Given the description of an element on the screen output the (x, y) to click on. 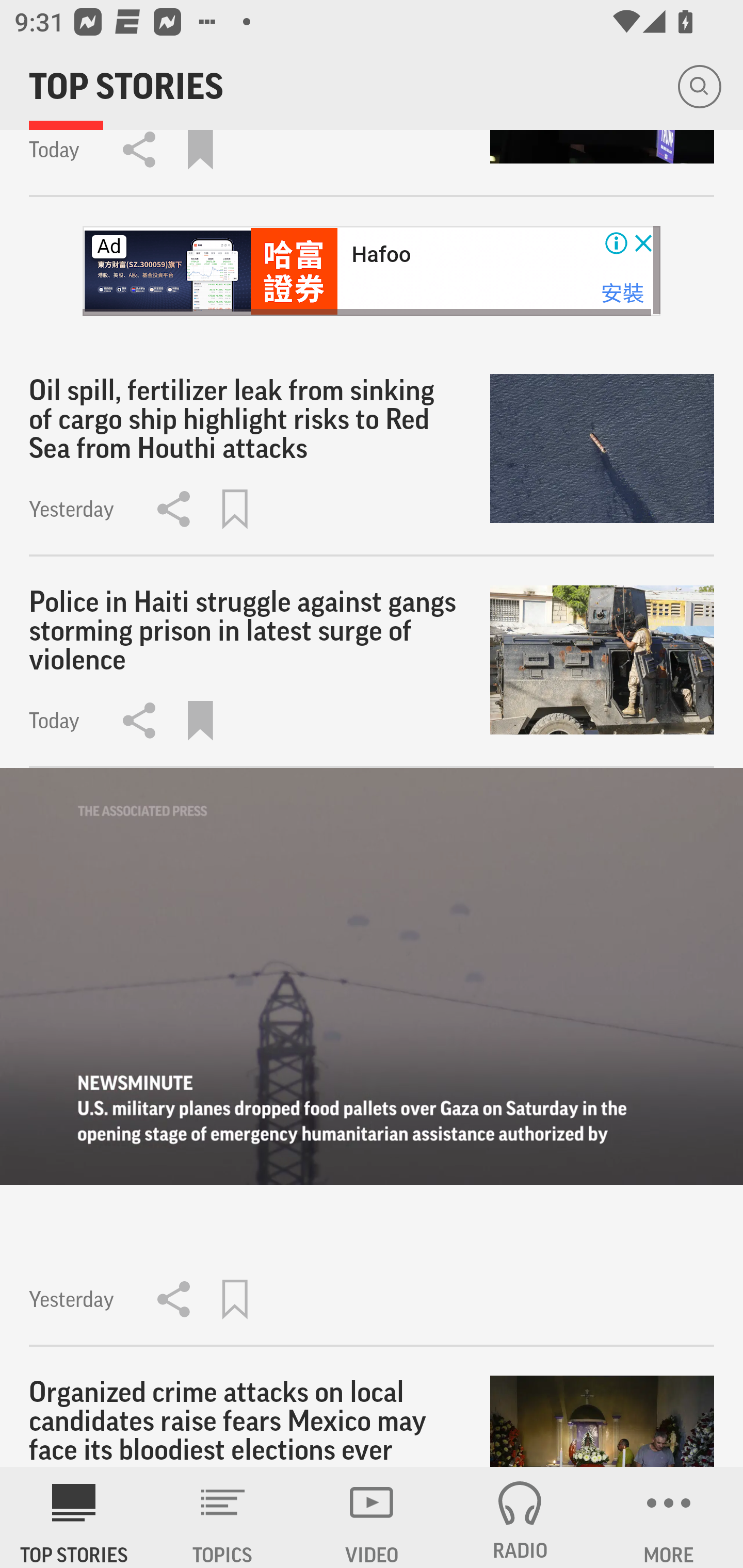
Hafoo (381, 254)
安裝 (621, 293)
toggle controls Yesterday (371, 1057)
toggle controls (371, 976)
AP News TOP STORIES (74, 1517)
TOPICS (222, 1517)
VIDEO (371, 1517)
RADIO (519, 1517)
MORE (668, 1517)
